Given the description of an element on the screen output the (x, y) to click on. 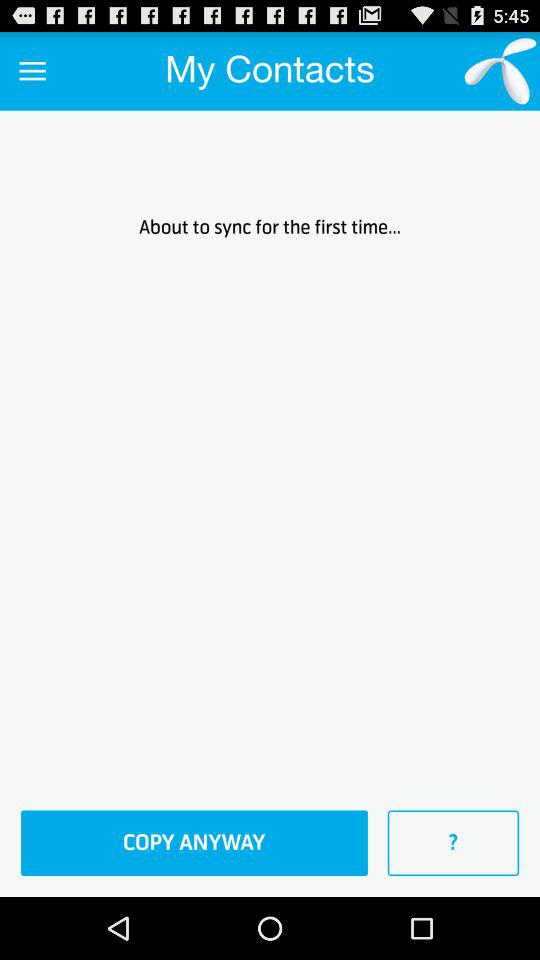
tap the item next to copy anyway item (453, 843)
